Given the description of an element on the screen output the (x, y) to click on. 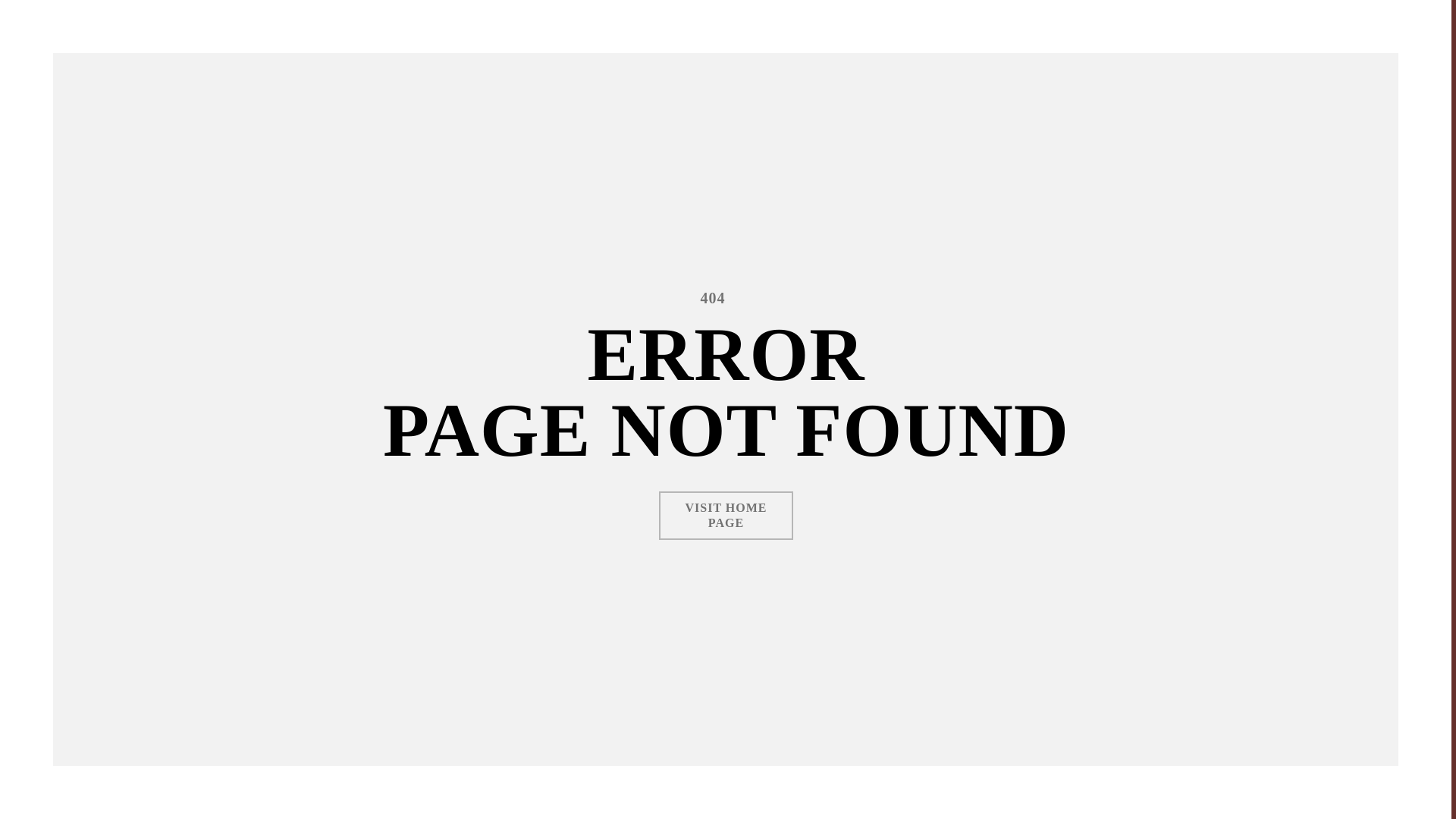
VISIT HOME PAGE Element type: text (725, 515)
